Given the description of an element on the screen output the (x, y) to click on. 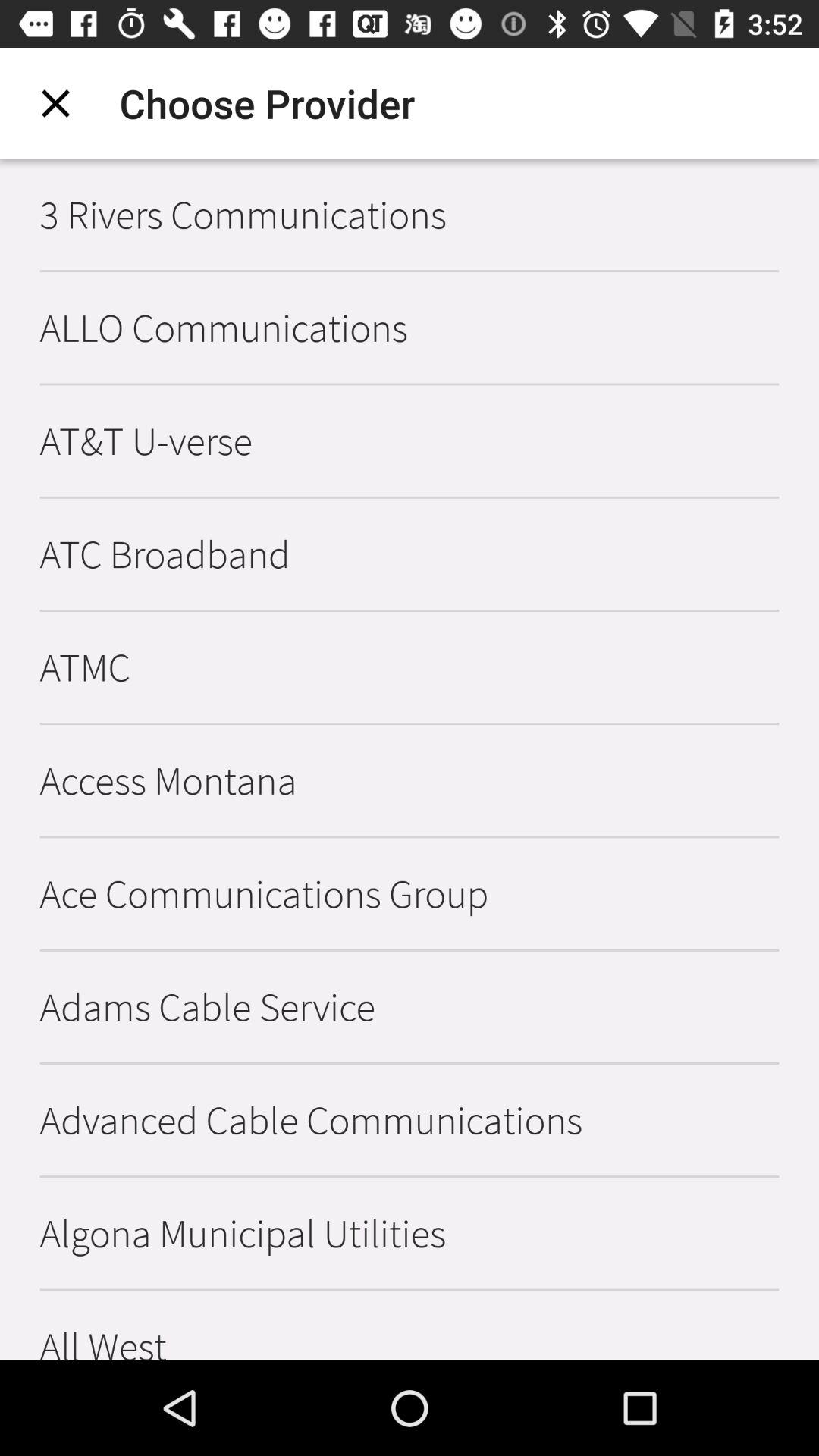
tap item above the 3 rivers communications item (55, 103)
